Given the description of an element on the screen output the (x, y) to click on. 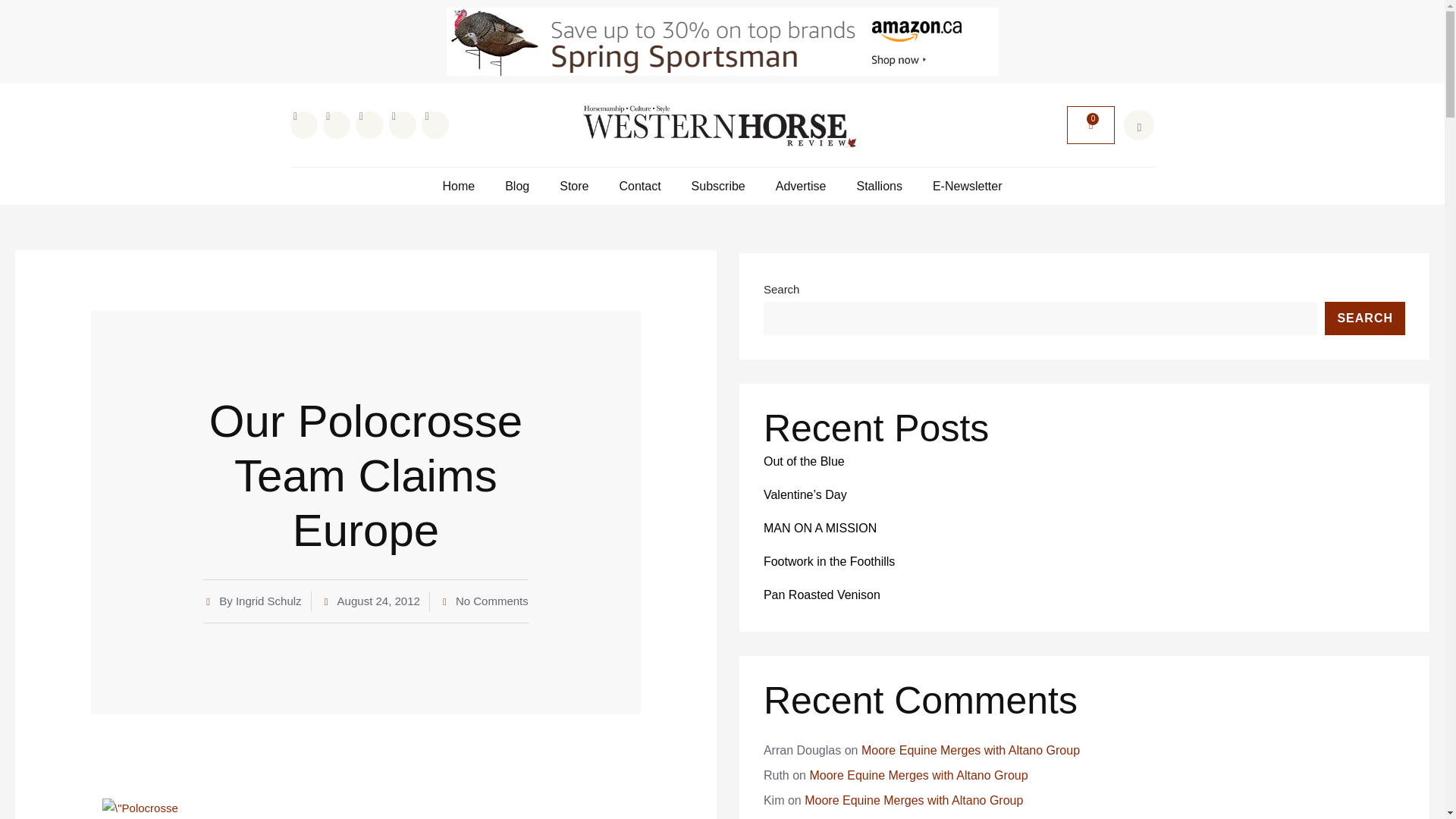
Contact (639, 186)
By Ingrid Schulz (252, 600)
Subscribe (718, 186)
Blog (517, 186)
0 (1091, 125)
August 24, 2012 (370, 600)
Store (573, 186)
Home (458, 186)
Advertise (801, 186)
Stallions (878, 186)
E-Newsletter (968, 186)
No Comments (483, 600)
